Given the description of an element on the screen output the (x, y) to click on. 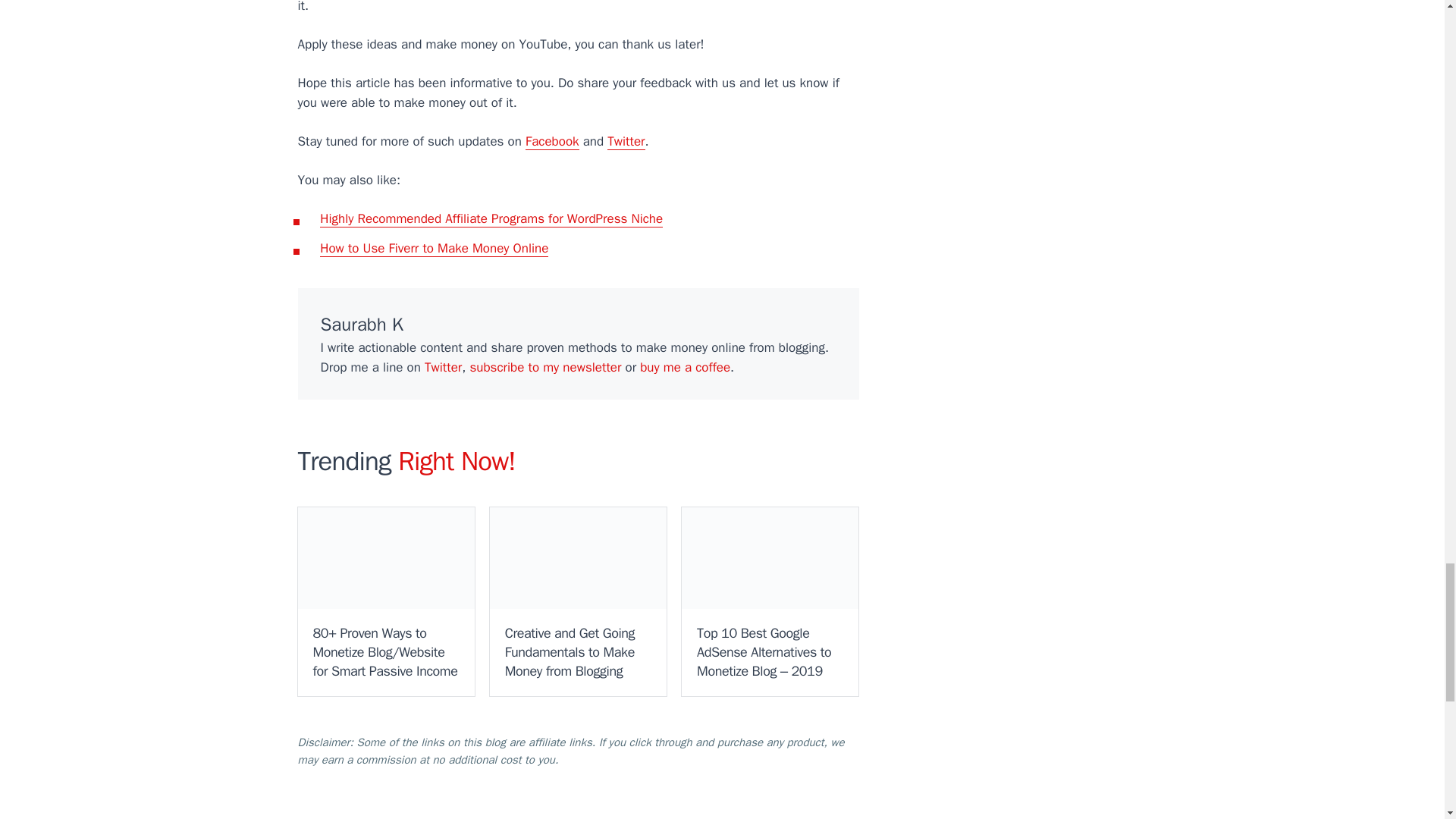
Saurabh K (361, 323)
Facebook (552, 141)
Highly Recommended Affiliate Programs for WordPress Niche (491, 218)
buy me a coffee (685, 367)
Twitter (626, 141)
How to Use Fiverr to Make Money Online (434, 248)
Twitter (443, 367)
subscribe to my newsletter (544, 367)
